Given the description of an element on the screen output the (x, y) to click on. 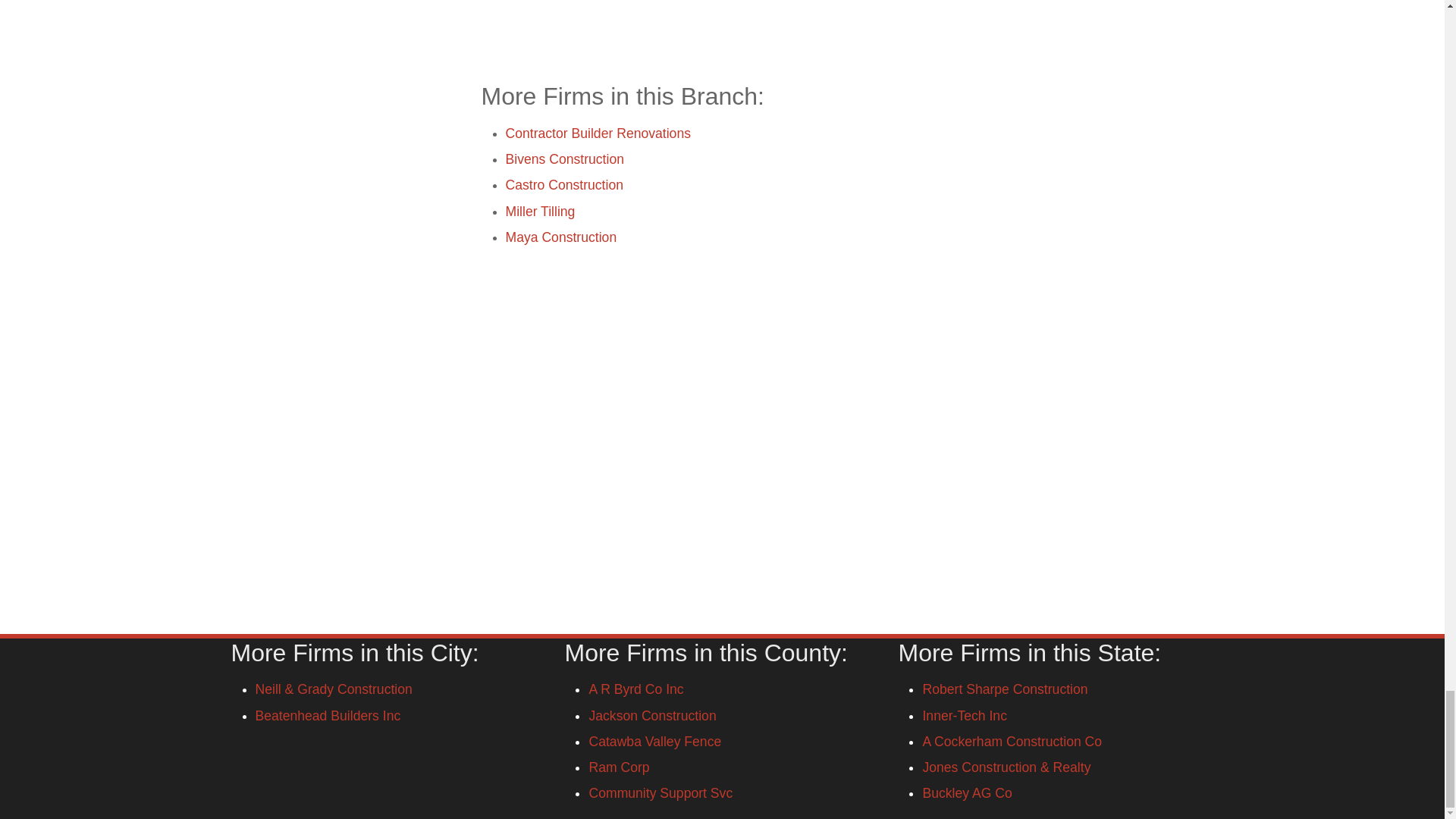
Miller Tilling (540, 211)
Bivens Construction (564, 159)
Castro Construction (564, 184)
Contractor Builder Renovations (597, 133)
Maya Construction (560, 237)
